Given the description of an element on the screen output the (x, y) to click on. 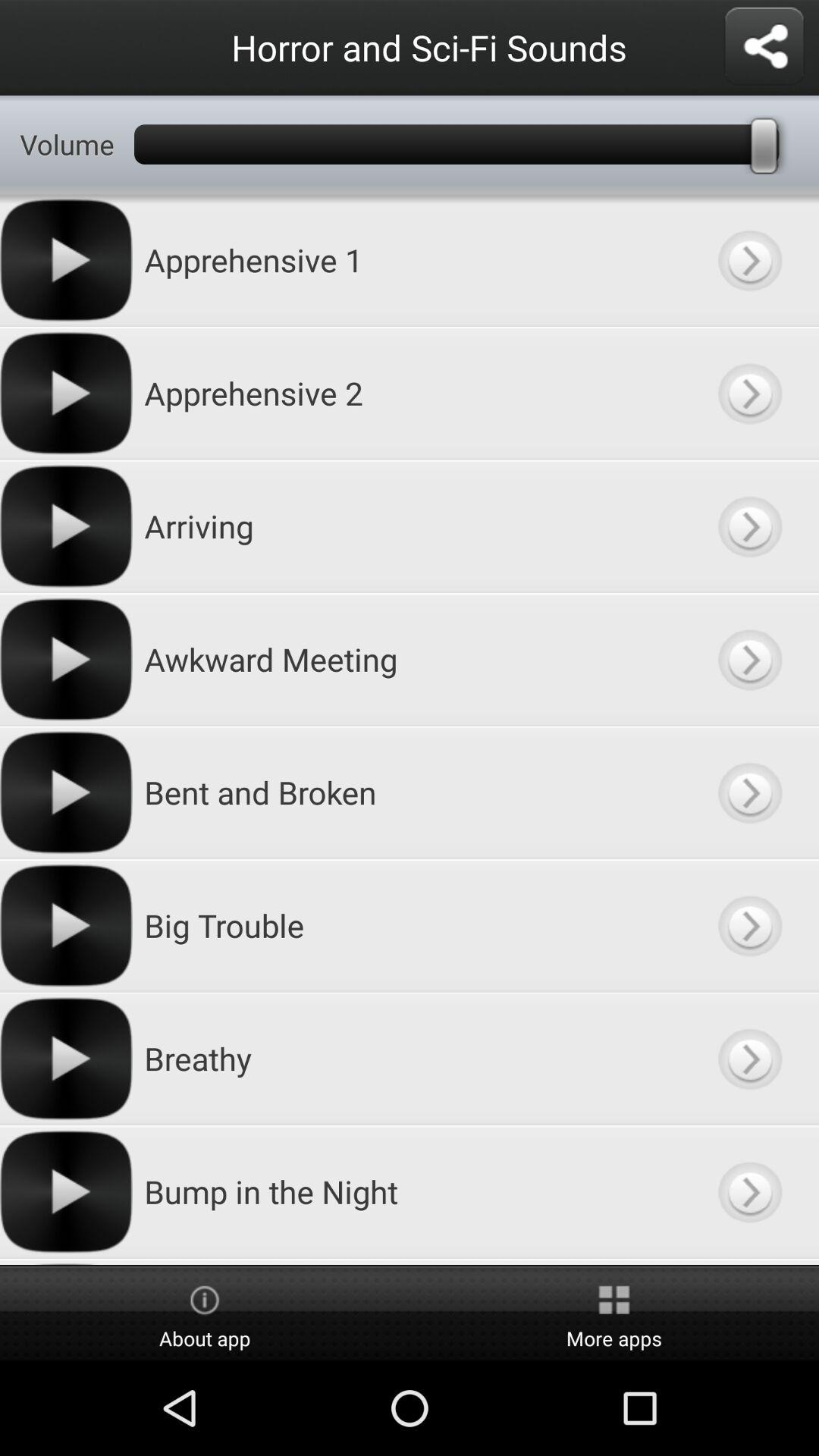
more information (749, 659)
